Given the description of an element on the screen output the (x, y) to click on. 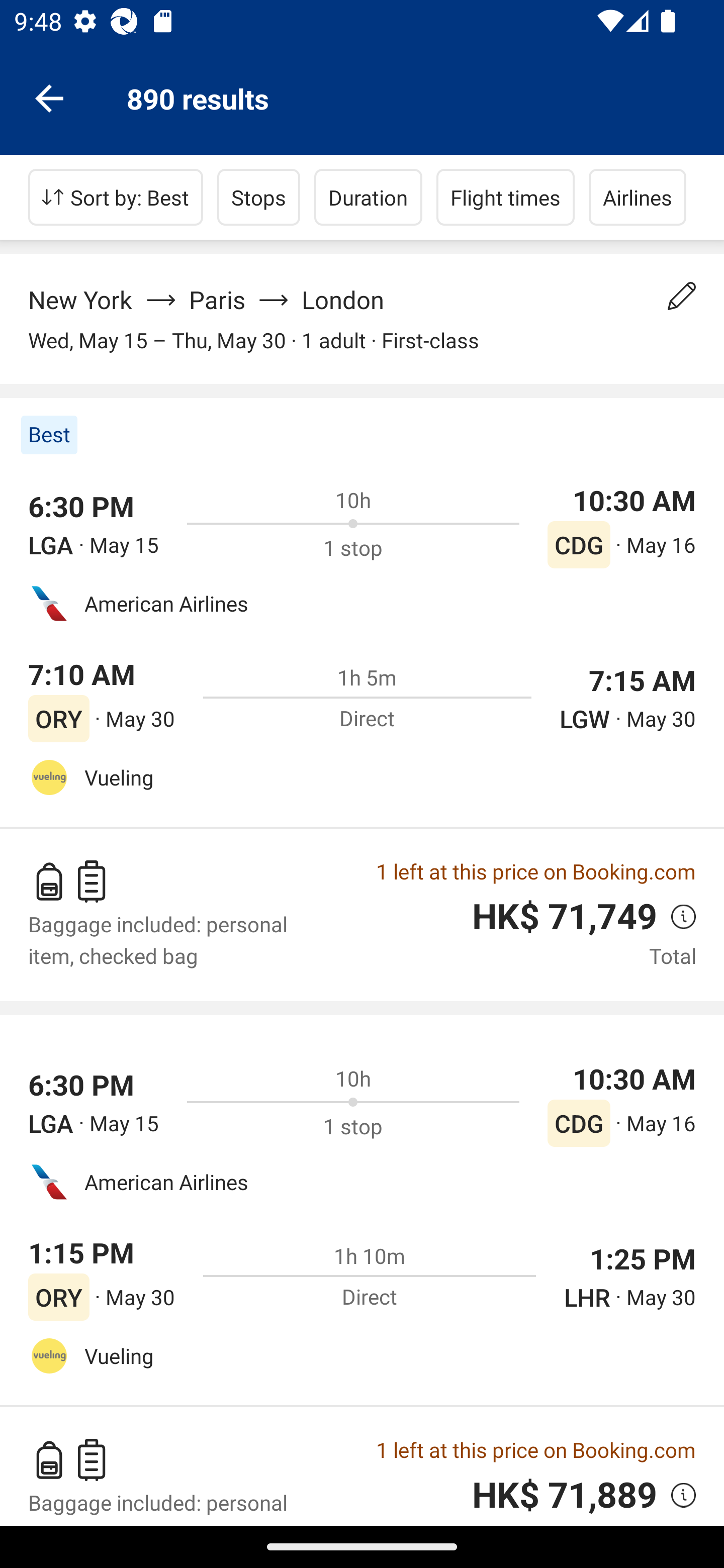
Navigate up (49, 97)
Sort by: Best (115, 197)
Stops (258, 197)
Duration (368, 197)
Flight times (505, 197)
Airlines (637, 197)
Change your search details (681, 296)
HK$ 71,749 (564, 916)
view price details, opens a pop-up (676, 916)
HK$ 71,889 (564, 1494)
view price details, opens a pop-up (676, 1494)
